Given the description of an element on the screen output the (x, y) to click on. 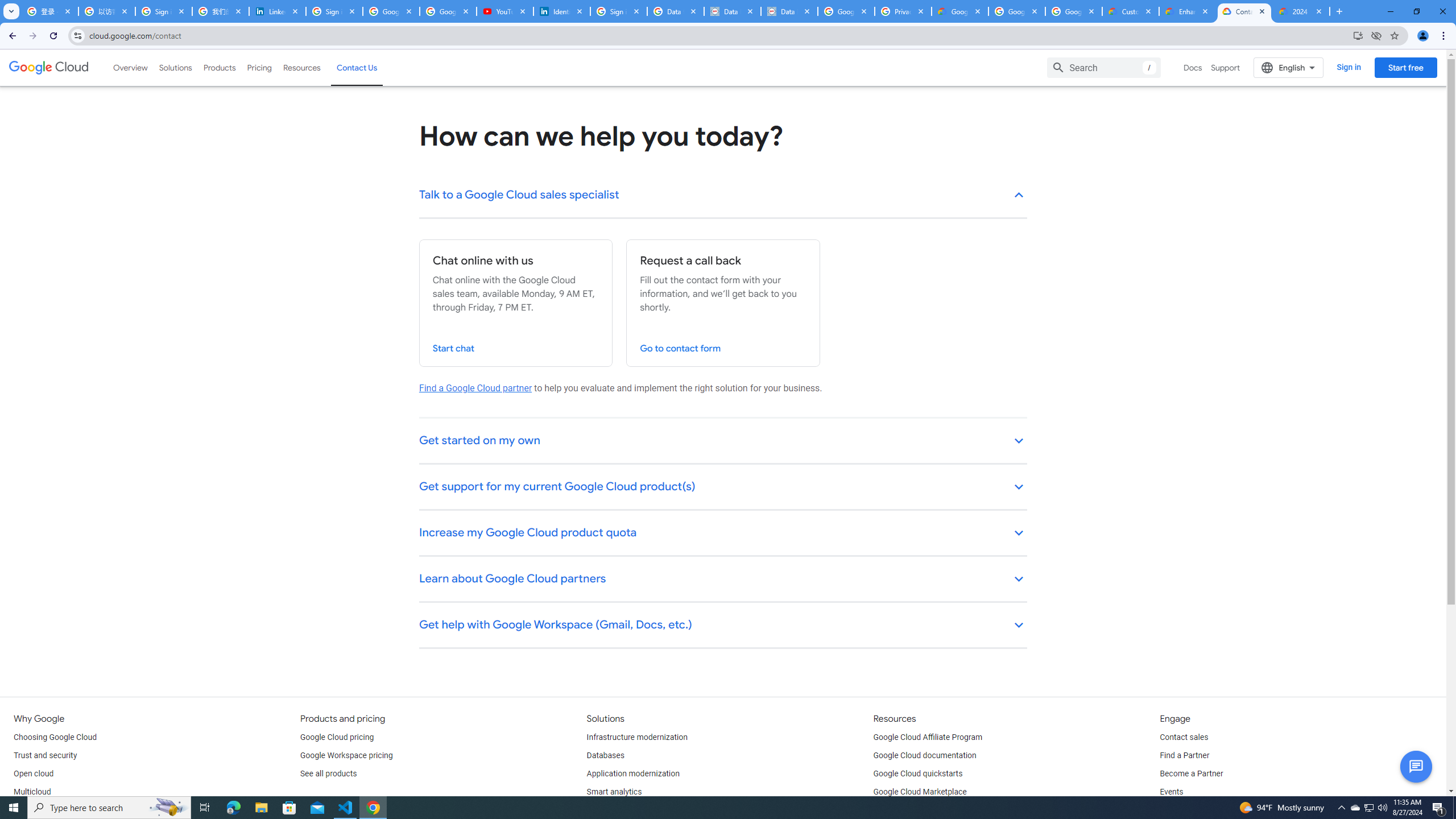
Increase my Google Cloud product quota keyboard_arrow_down (723, 533)
Button to activate chat (1416, 766)
Customer Care | Google Cloud (1130, 11)
